Given the description of an element on the screen output the (x, y) to click on. 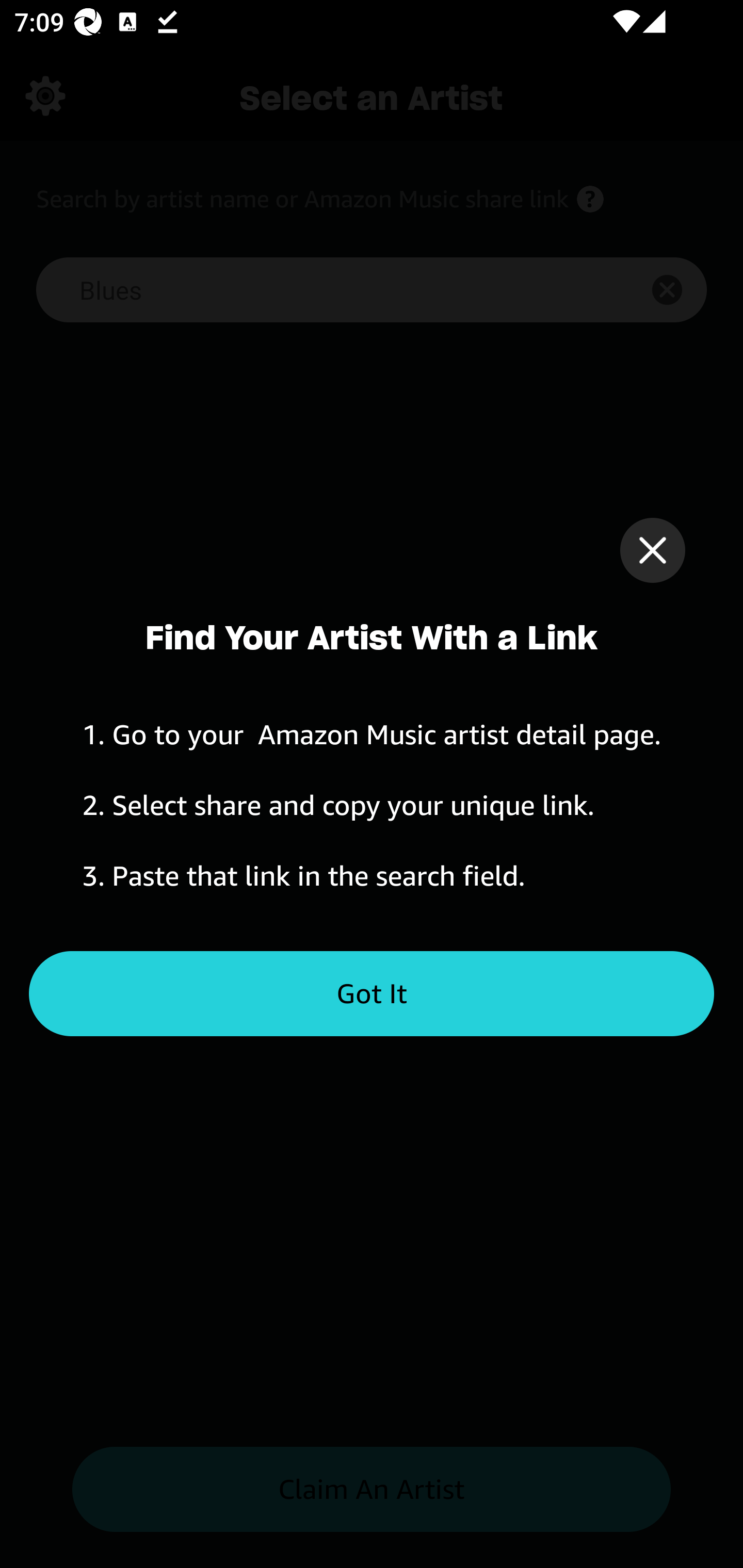
Generic_dismiss  icon (652, 550)
Got it button Got It (371, 993)
